Given the description of an element on the screen output the (x, y) to click on. 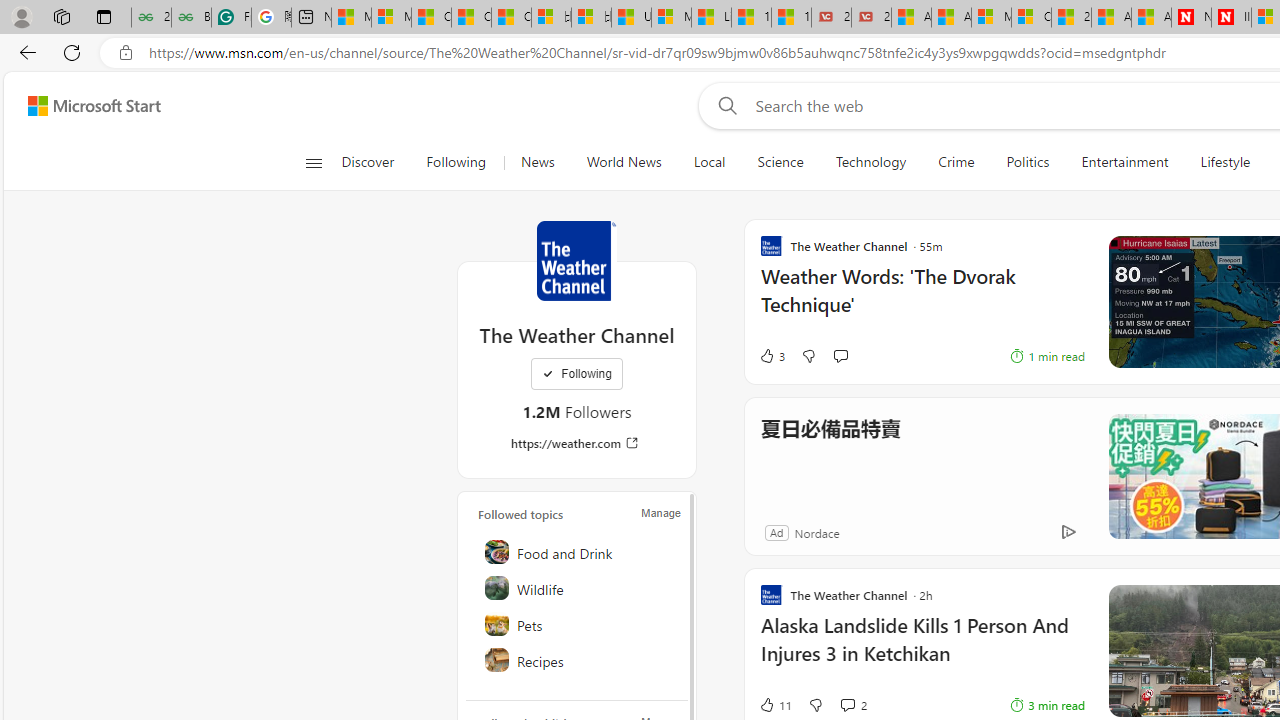
Alaska Landslide Kills 1 Person And Injures 3 in Ketchikan (922, 650)
View comments 2 Comment (852, 704)
15 Ways Modern Life Contradicts the Teachings of Jesus (791, 17)
Illness news & latest pictures from Newsweek.com (1231, 17)
https://weather.com (576, 443)
21 Movies That Outdid the Books They Were Based On (871, 17)
